Given the description of an element on the screen output the (x, y) to click on. 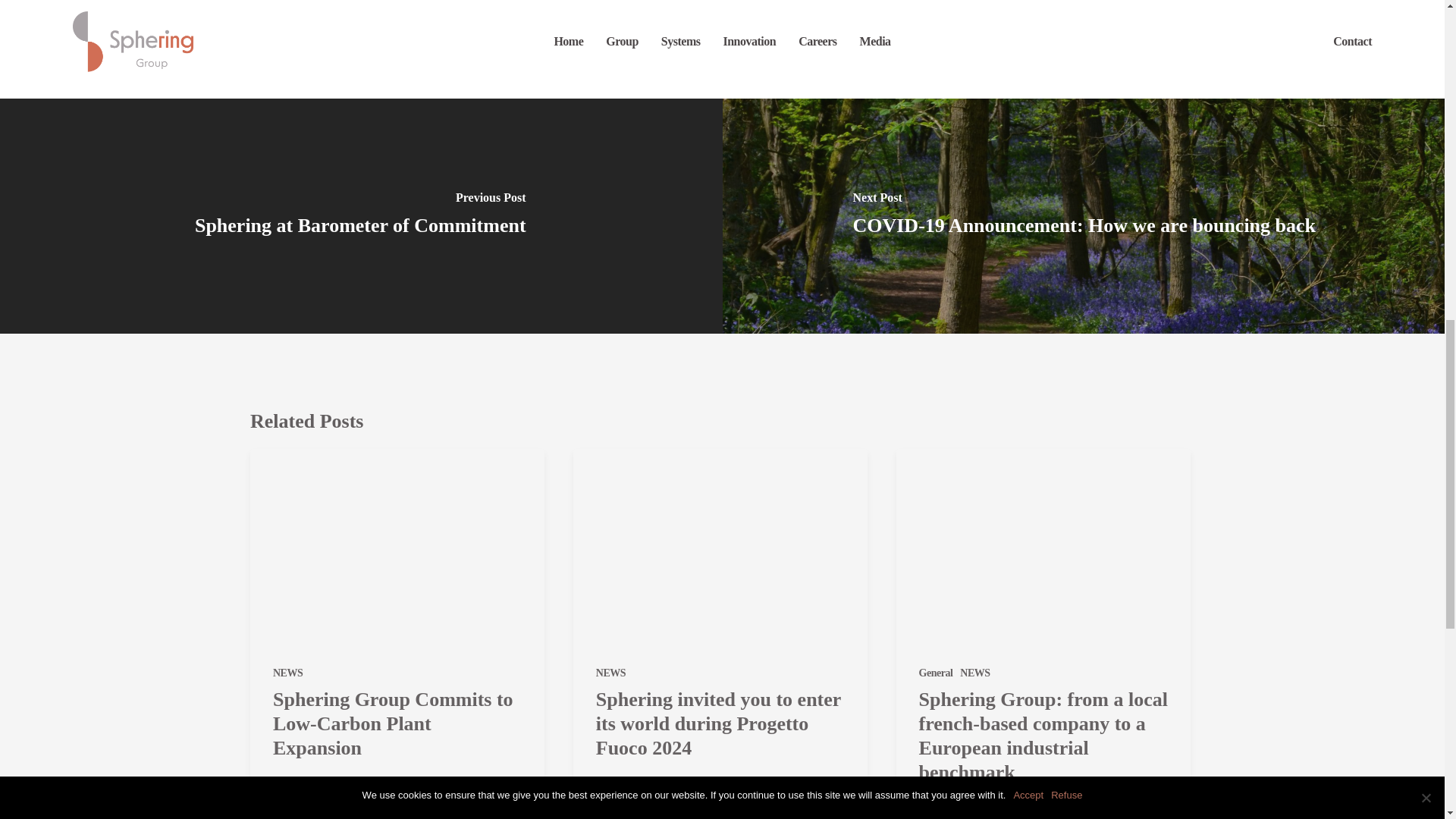
NEWS (610, 672)
NEWS (974, 672)
General (935, 672)
NEWS (287, 672)
